Given the description of an element on the screen output the (x, y) to click on. 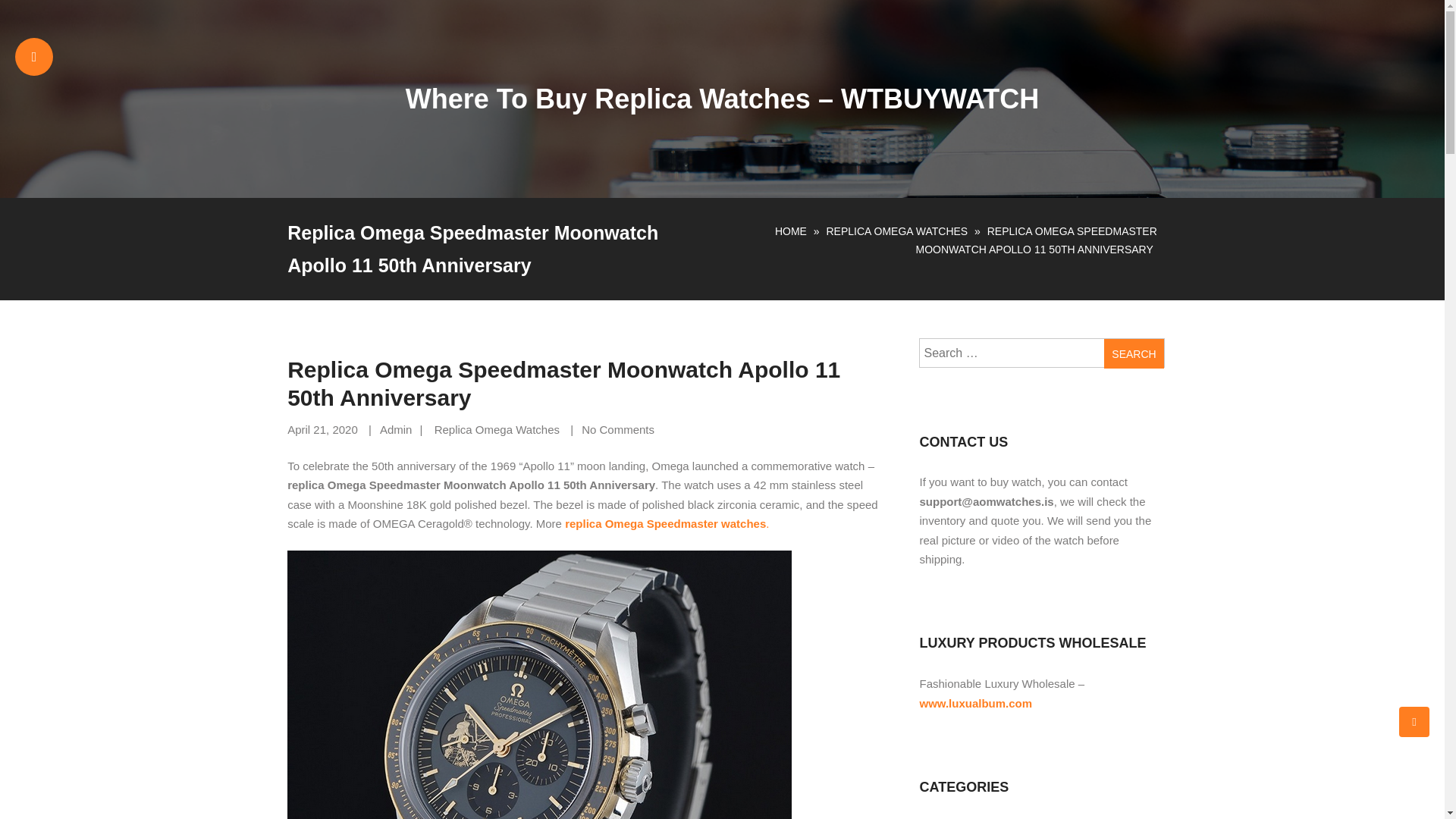
Search (1133, 353)
HOME (790, 231)
Search (1133, 353)
replica Omega Speedmaster watches. (666, 522)
No Comments (616, 429)
Replica Omega Watches (496, 429)
Admin (396, 429)
REPLICA OMEGA WATCHES (896, 231)
April 21, 2020 (322, 429)
